Given the description of an element on the screen output the (x, y) to click on. 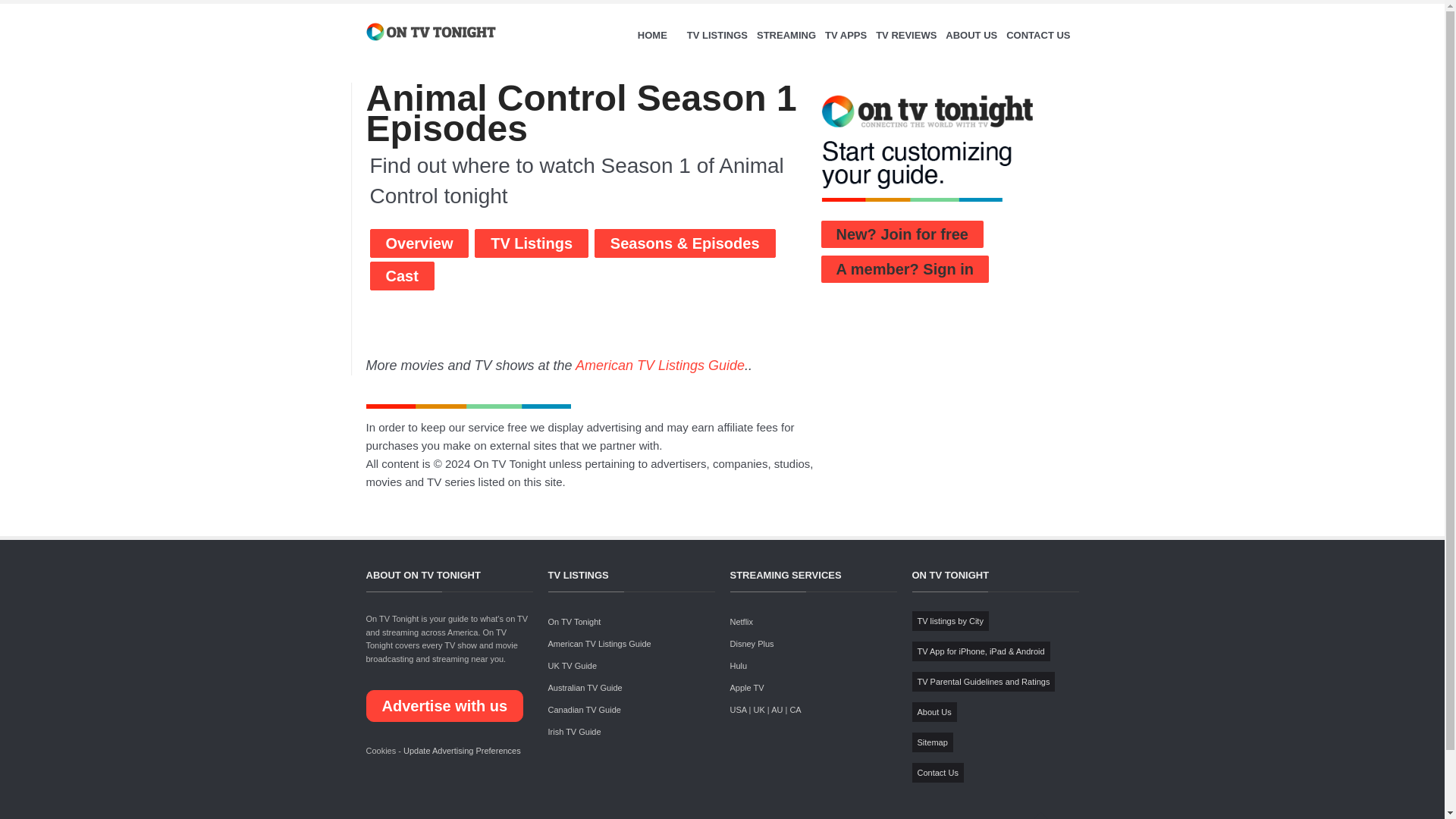
On TV Tonight (573, 621)
Australian TV Guide (584, 687)
Canadian TV Guide (583, 709)
TV REVIEWS (905, 35)
Irish TV Guide (573, 731)
American TV Listings Guide (659, 365)
Cast (401, 275)
New? Join for free (901, 234)
Advertise with us (443, 705)
Netflix (740, 621)
